Given the description of an element on the screen output the (x, y) to click on. 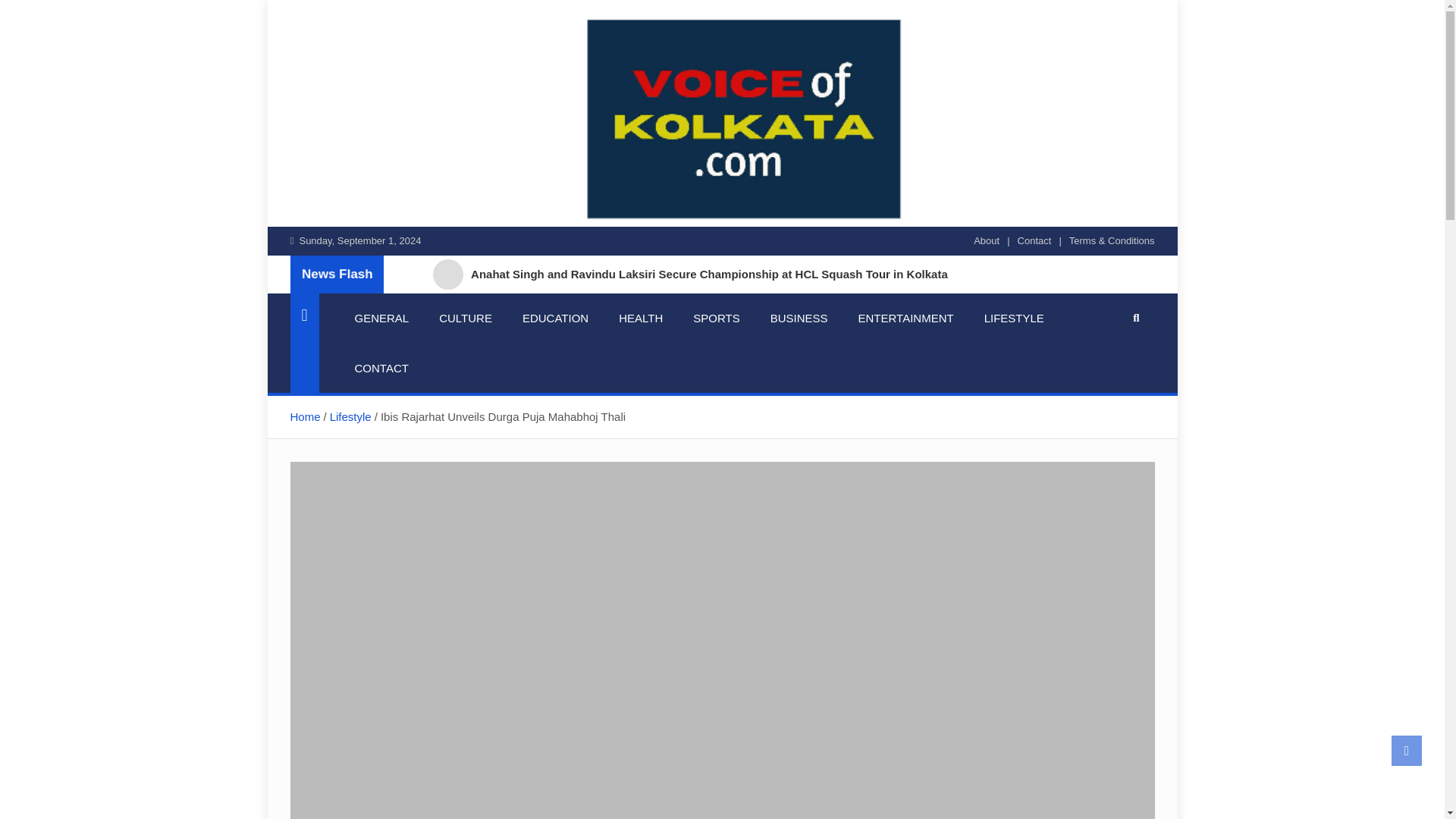
About (986, 240)
HEALTH (641, 318)
Lifestyle (350, 416)
BUSINESS (799, 318)
Contact (1034, 240)
EDUCATION (555, 318)
SPORTS (716, 318)
Go to Top (1406, 750)
GENERAL (382, 318)
